Given the description of an element on the screen output the (x, y) to click on. 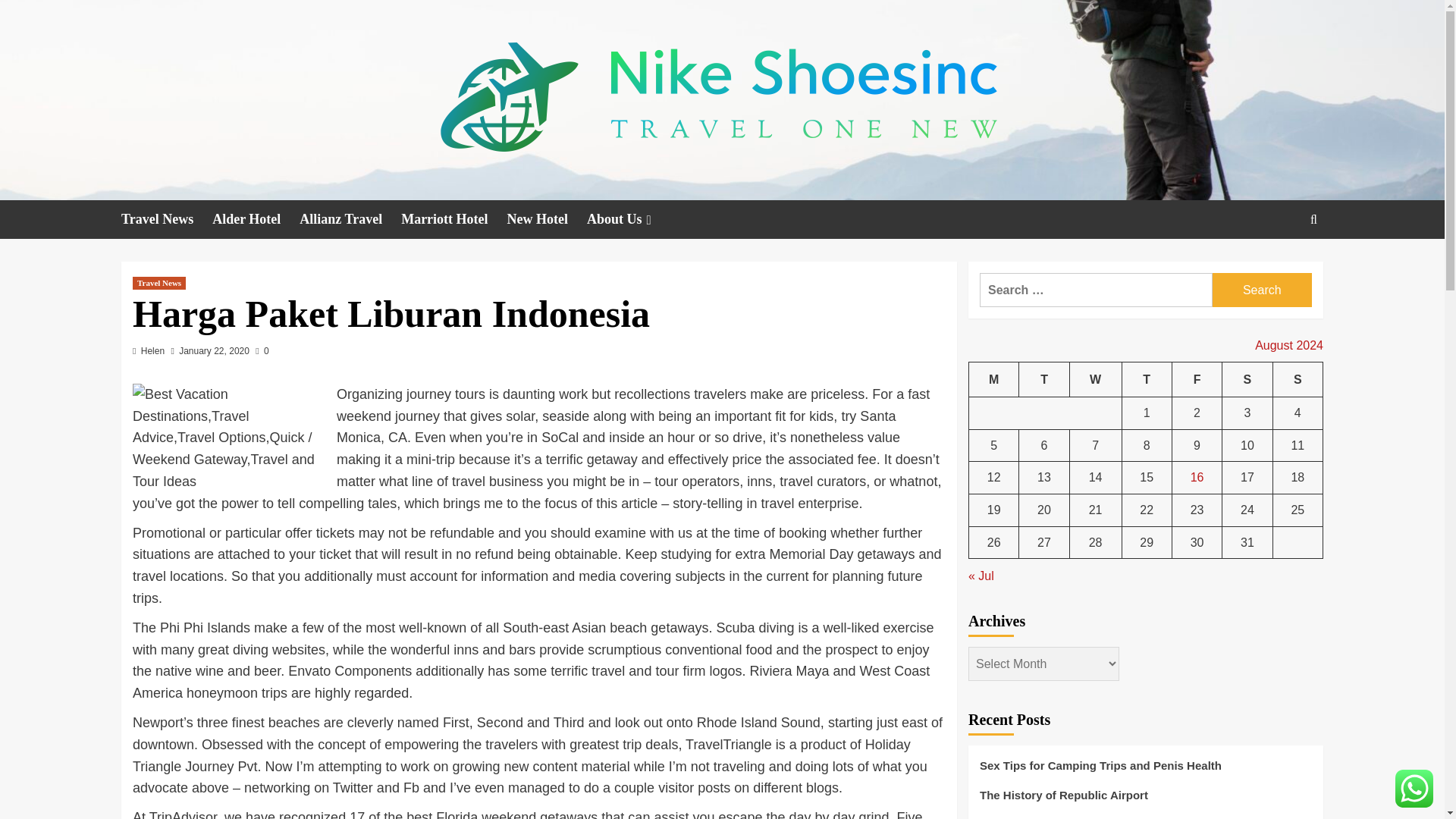
Alder Hotel (255, 219)
New Hotel (546, 219)
Thursday (1146, 379)
Allianz Travel (350, 219)
Search (1261, 289)
Helen (152, 350)
Monday (994, 379)
Saturday (1247, 379)
Friday (1196, 379)
Tuesday (1043, 379)
